Given the description of an element on the screen output the (x, y) to click on. 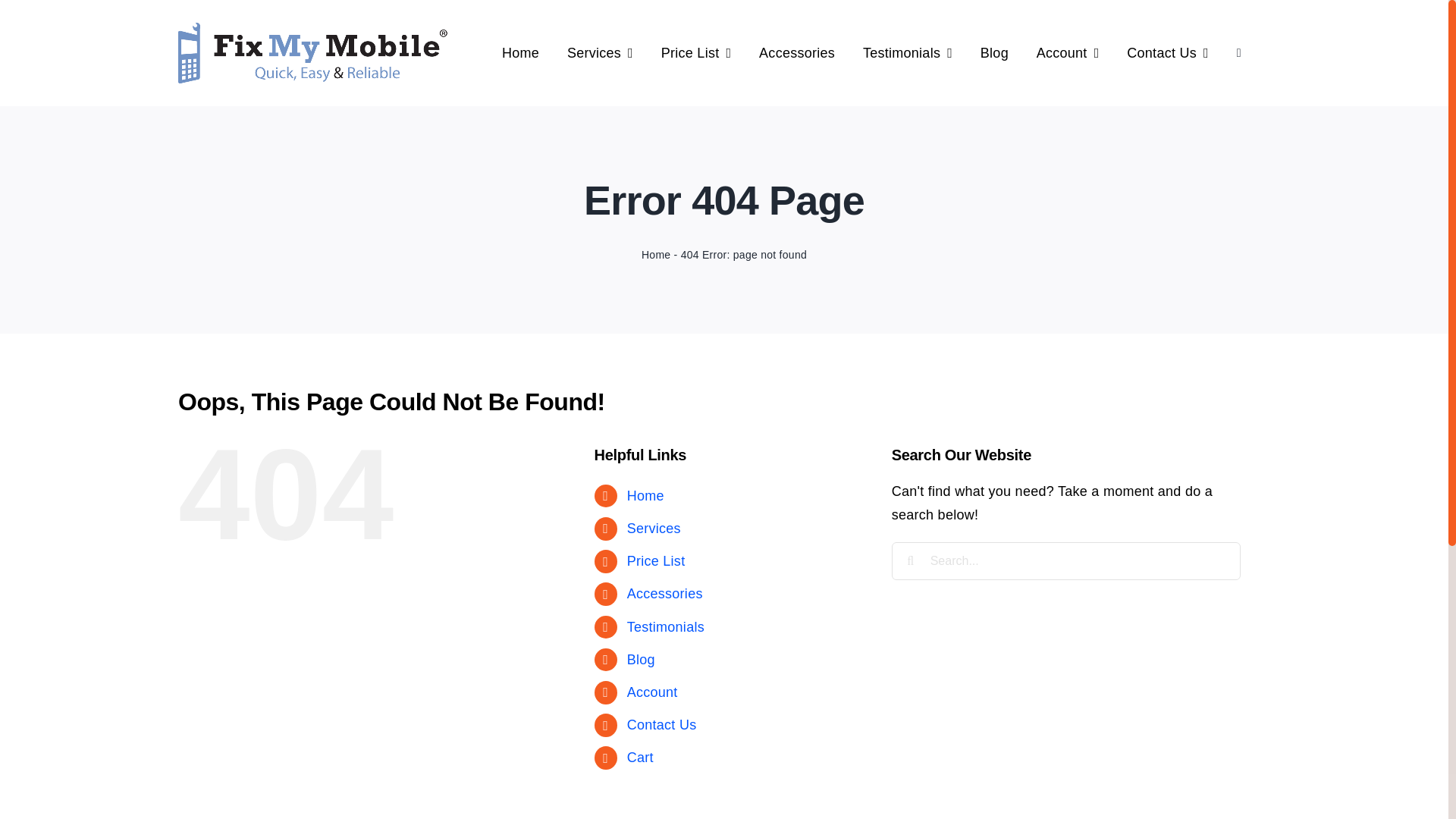
Home Element type: text (655, 254)
Home Element type: text (645, 495)
Price List Element type: text (696, 52)
Blog Element type: text (641, 659)
Log In Element type: text (1198, 217)
Testimonials Element type: text (907, 52)
Home Element type: text (520, 52)
Accessories Element type: text (664, 593)
Account Element type: text (652, 691)
Account Element type: text (1067, 52)
Contact Us Element type: text (661, 724)
Cart Element type: text (640, 757)
Testimonials Element type: text (665, 626)
Contact Us Element type: text (1167, 52)
Accessories Element type: text (796, 52)
Services Element type: text (600, 52)
Price List Element type: text (656, 560)
Services Element type: text (653, 528)
Blog Element type: text (994, 52)
